Given the description of an element on the screen output the (x, y) to click on. 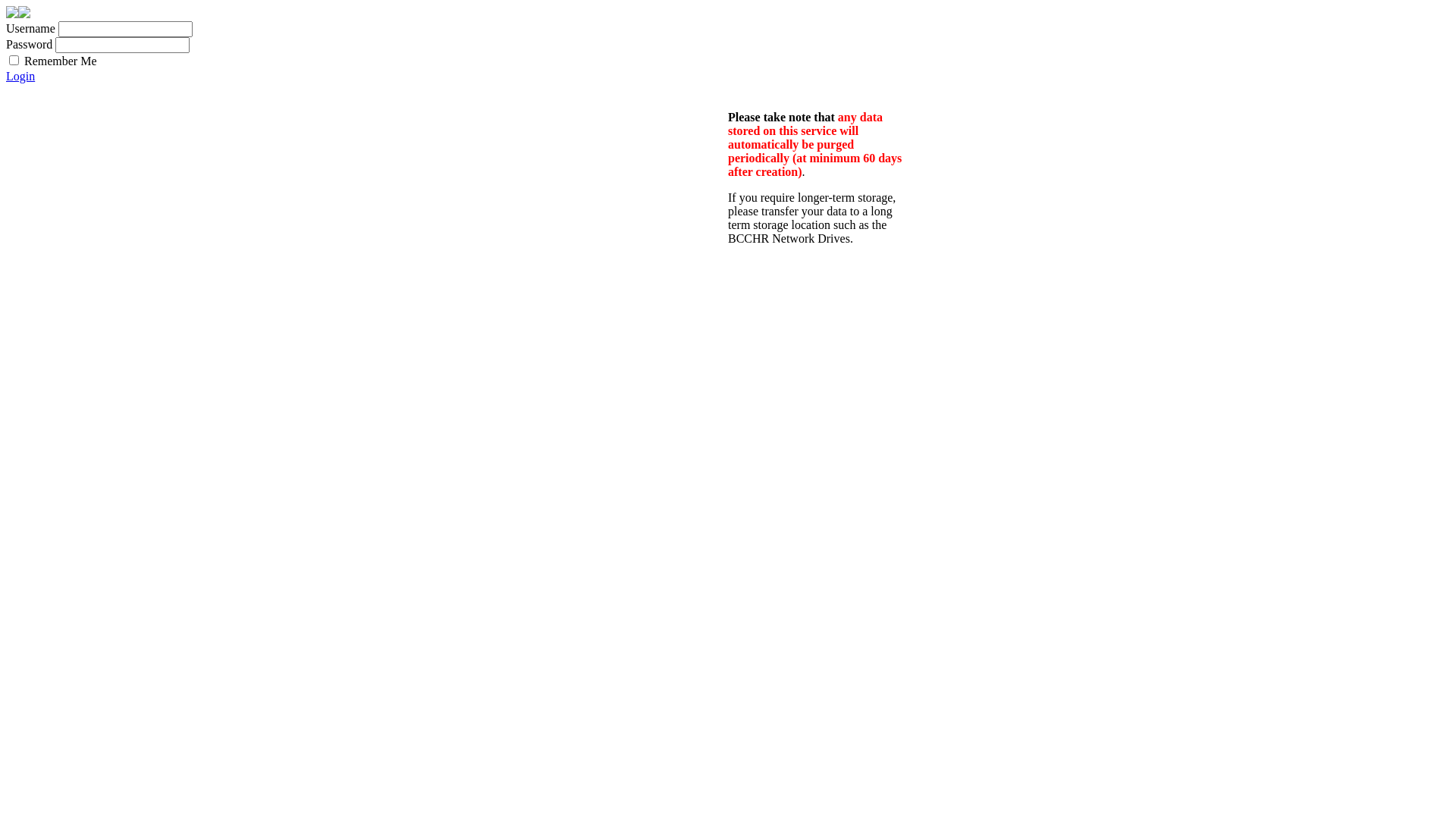
Login Element type: text (20, 75)
login Element type: text (16, 7)
